Given the description of an element on the screen output the (x, y) to click on. 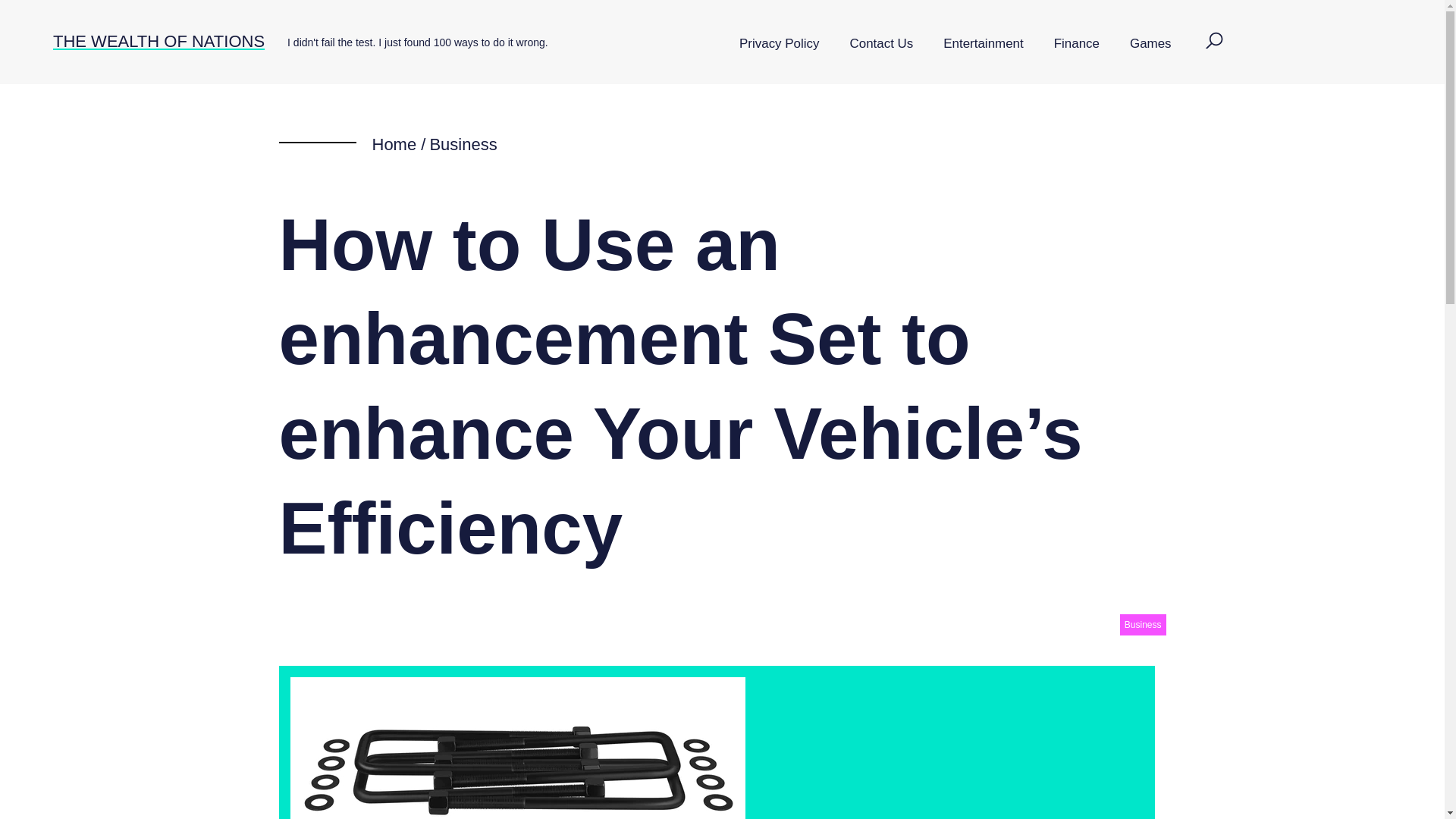
Games (1150, 43)
Business (462, 144)
Finance (1077, 43)
Contact Us (881, 43)
Home (393, 144)
Privacy Policy (778, 43)
Business (1142, 624)
THE WEALTH OF NATIONS (158, 40)
Entertainment (983, 43)
